Given the description of an element on the screen output the (x, y) to click on. 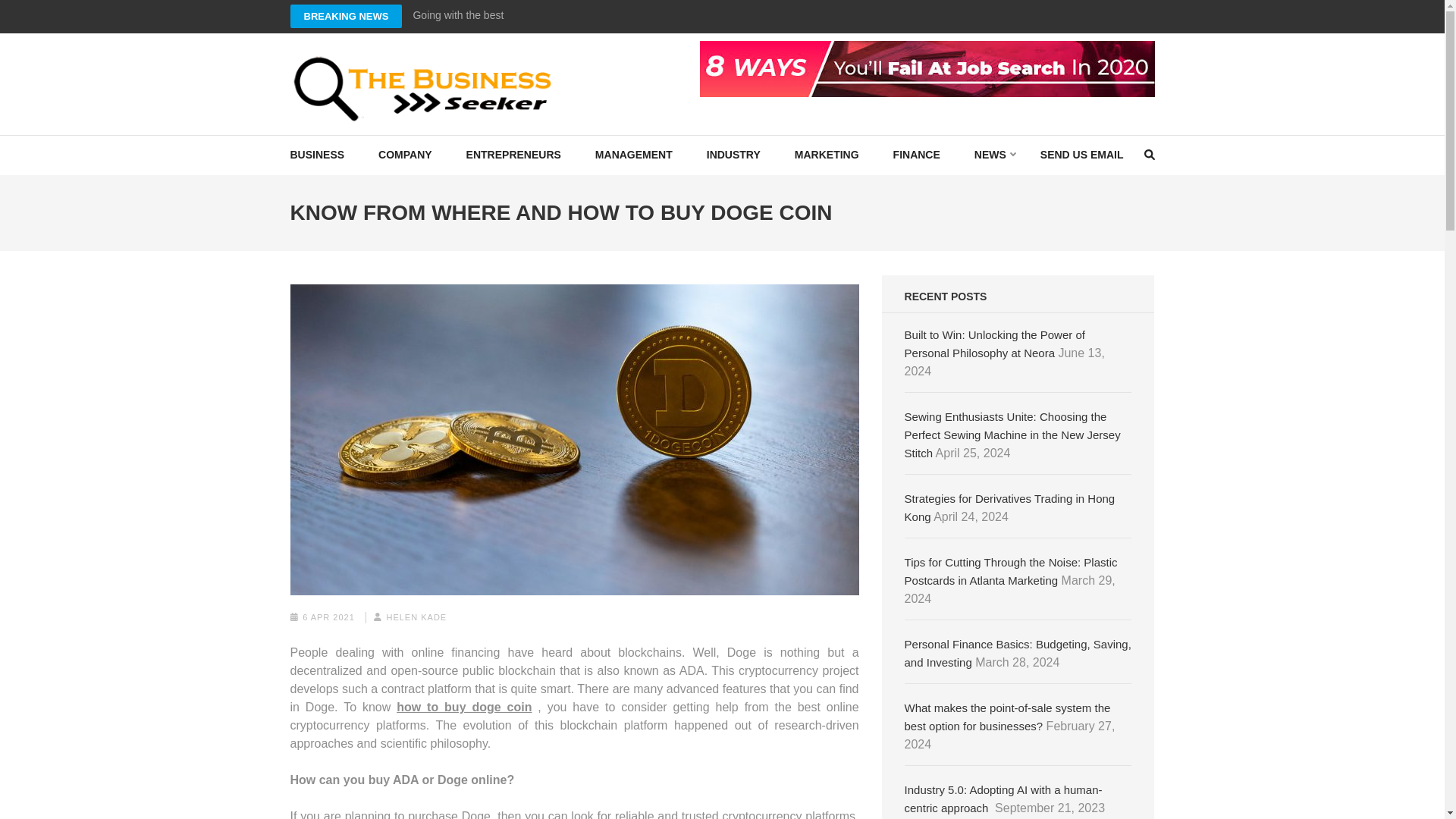
FINANCE (916, 154)
MARKETING (826, 154)
ENTREPRENEURS (512, 154)
6 APR 2021 (328, 616)
BUSINESS (316, 154)
MANAGEMENT (633, 154)
SEND US EMAIL (1082, 154)
THE BUSINESS SEEKER (450, 137)
INDUSTRY (733, 154)
COMPANY (405, 154)
BREAKING NEWS (345, 15)
